Given the description of an element on the screen output the (x, y) to click on. 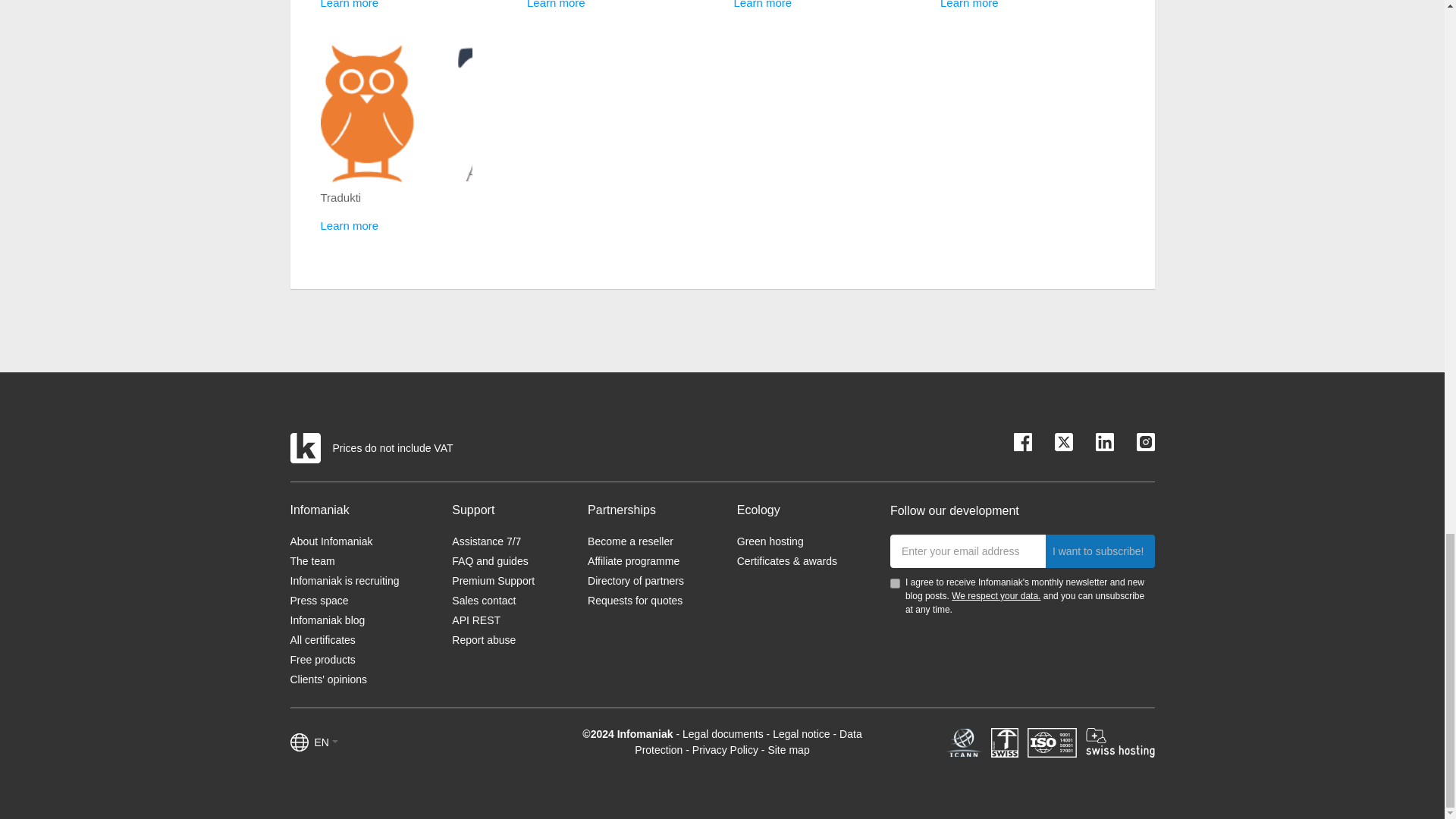
on (894, 583)
